Given the description of an element on the screen output the (x, y) to click on. 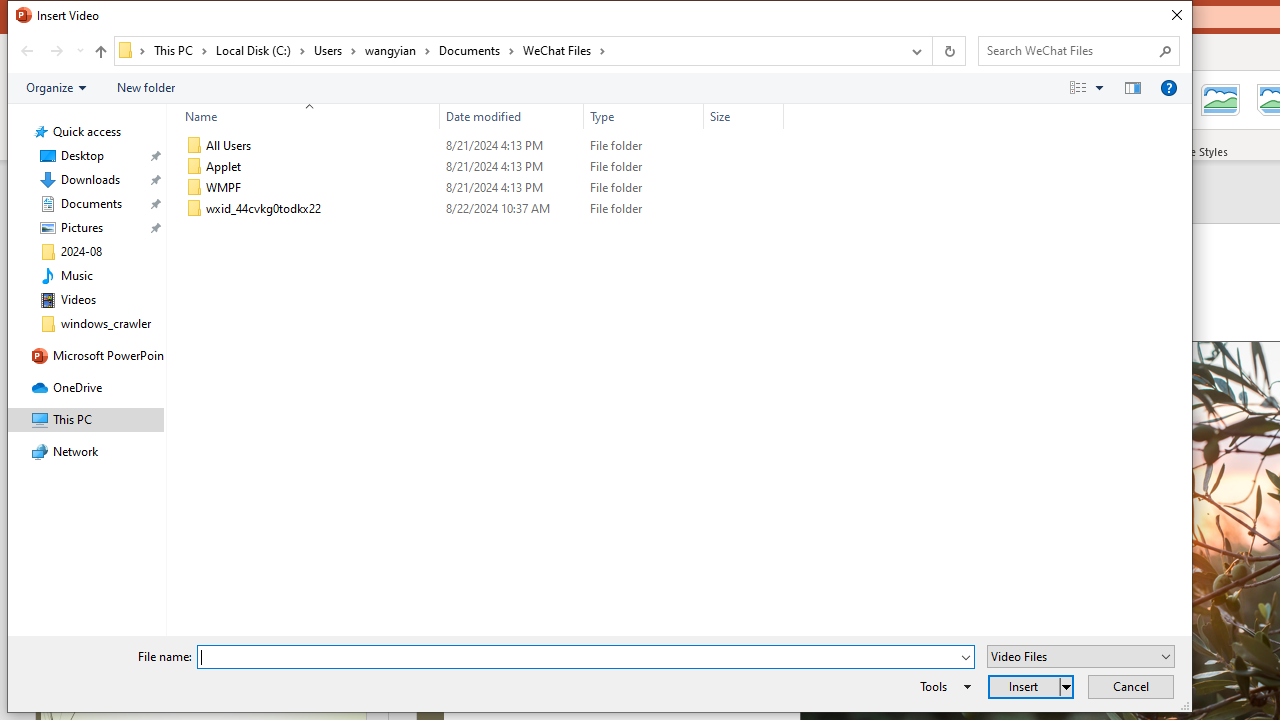
File name: (586, 656)
Refresh "WeChat Files" (F5) (948, 51)
Previous Locations (914, 51)
Applet (480, 166)
View Slider (1099, 87)
&Help (1168, 87)
Up to "Documents" (Alt + Up Arrow) (100, 52)
Command Module (599, 87)
All locations (132, 50)
Type (643, 115)
